Given the description of an element on the screen output the (x, y) to click on. 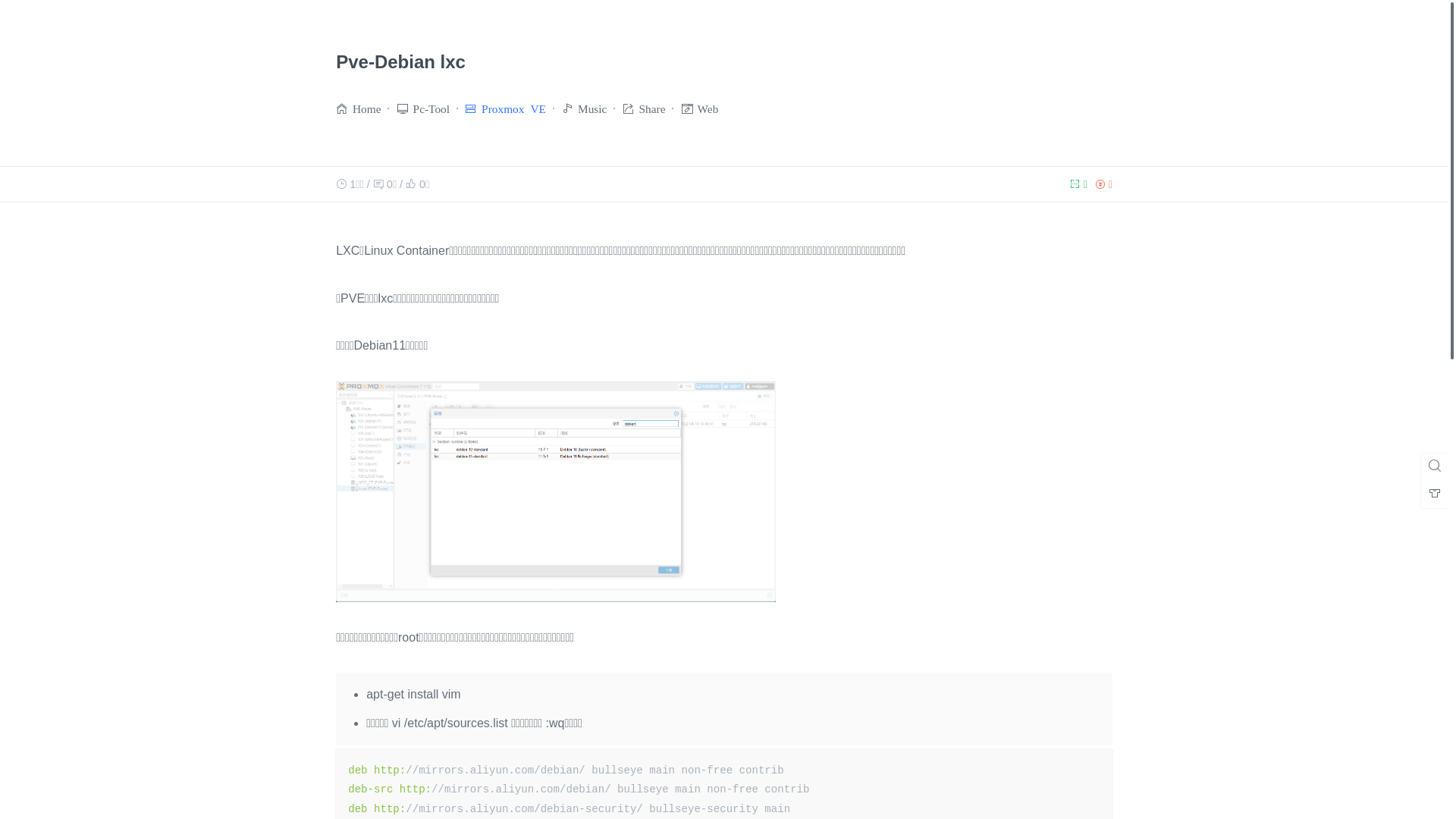
Pc-Tool Element type: text (431, 107)
Share Element type: text (651, 107)
Home Element type: text (366, 107)
Web Element type: text (707, 107)
Music Element type: text (591, 107)
Proxmox VE Element type: text (513, 107)
